Given the description of an element on the screen output the (x, y) to click on. 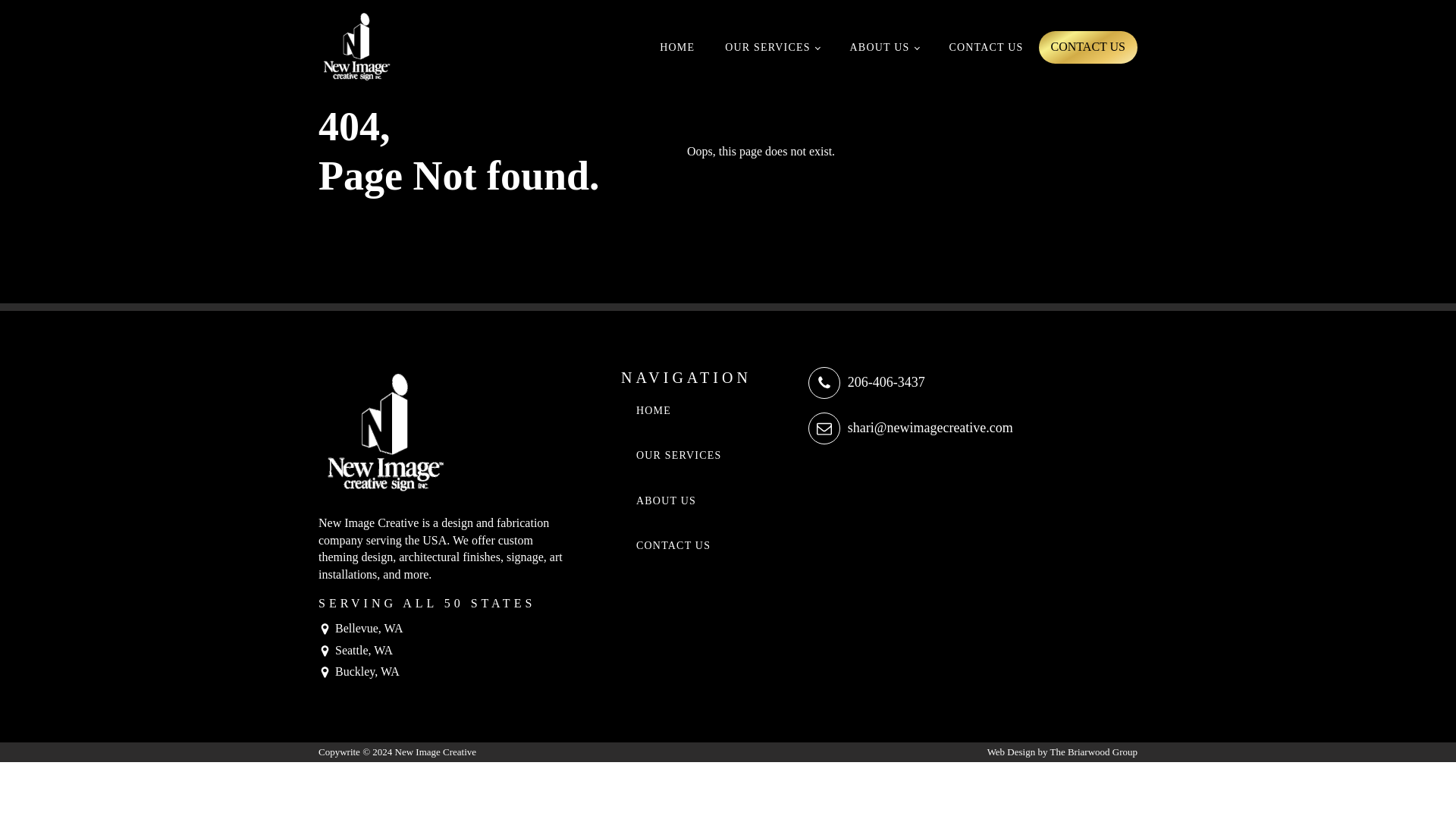
HOME (678, 411)
ABOUT US (678, 501)
OUR SERVICES (772, 47)
CONTACT US (1088, 47)
OUR SERVICES (678, 455)
HOME (677, 47)
CONTACT US (678, 545)
Web Design by The Briarwood Group (1062, 752)
CONTACT US (985, 47)
ABOUT US (884, 47)
